Given the description of an element on the screen output the (x, y) to click on. 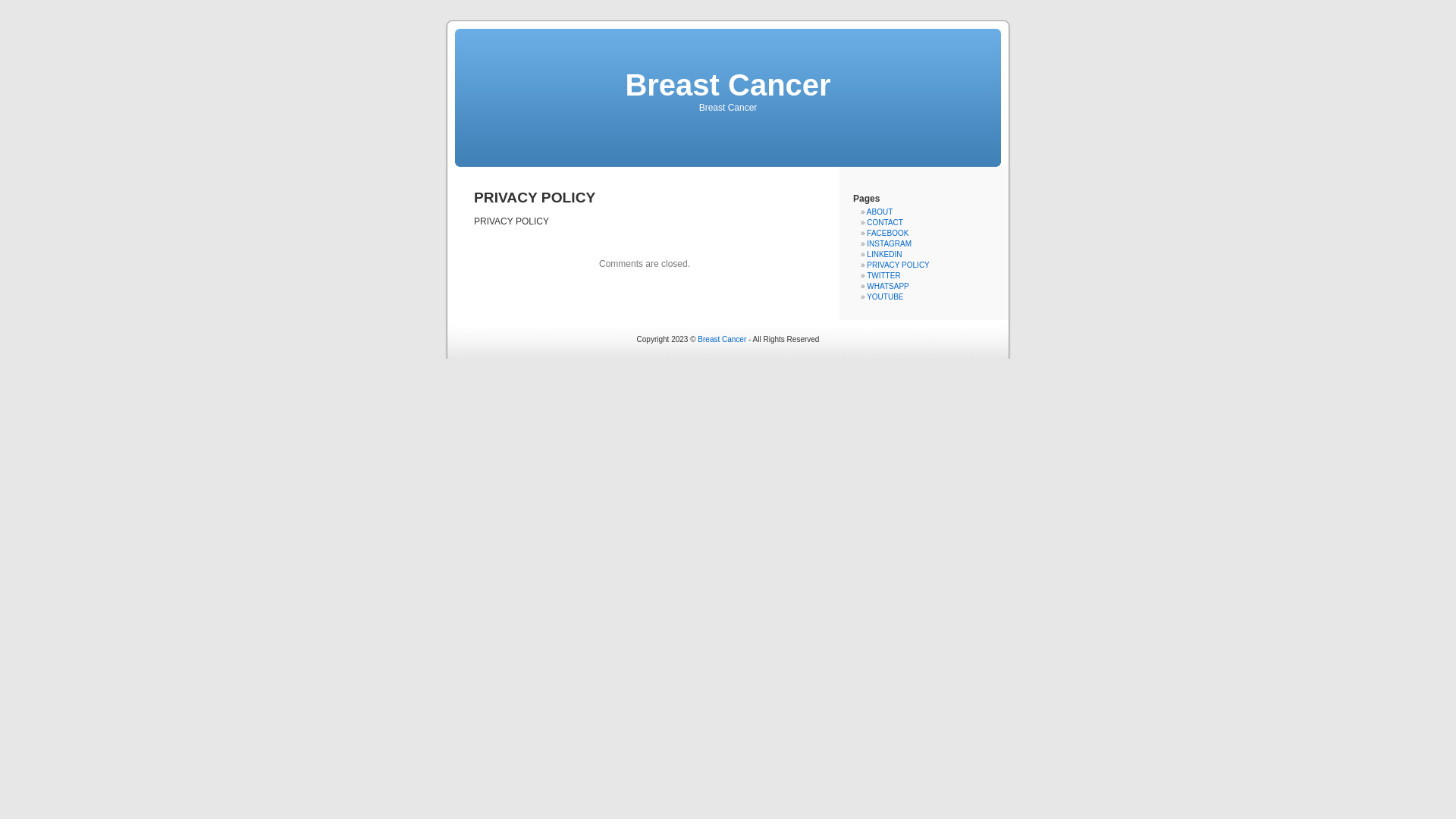
ABOUT Element type: text (879, 211)
WHATSAPP Element type: text (887, 286)
LINKEDIN Element type: text (883, 254)
INSTAGRAM Element type: text (888, 243)
Breast Cancer Element type: text (727, 84)
FACEBOOK Element type: text (887, 233)
YOUTUBE Element type: text (884, 296)
PRIVACY POLICY Element type: text (897, 264)
Breast Cancer Element type: text (721, 339)
TWITTER Element type: text (883, 275)
CONTACT Element type: text (884, 222)
